Given the description of an element on the screen output the (x, y) to click on. 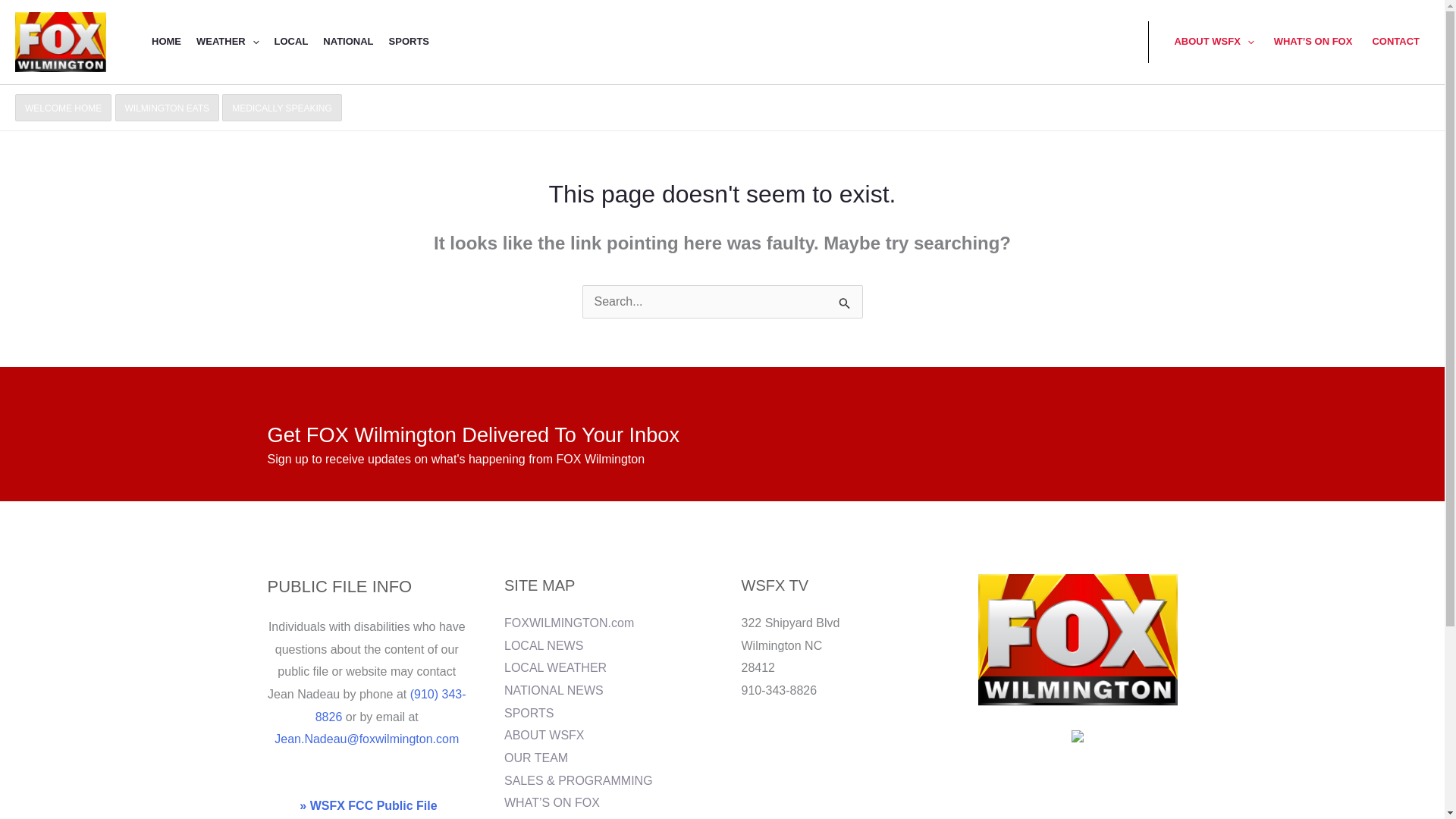
MEDICALLY SPEAKING (282, 106)
WILMINGTON EATS (167, 106)
CONTACT (1395, 41)
WELCOME HOME (63, 106)
WEATHER (227, 41)
ABOUT WSFX (1213, 41)
MEDICALLY SPEAKING (282, 107)
WELCOME HOME (63, 107)
WILMINGTON EATS (167, 107)
